Given the description of an element on the screen output the (x, y) to click on. 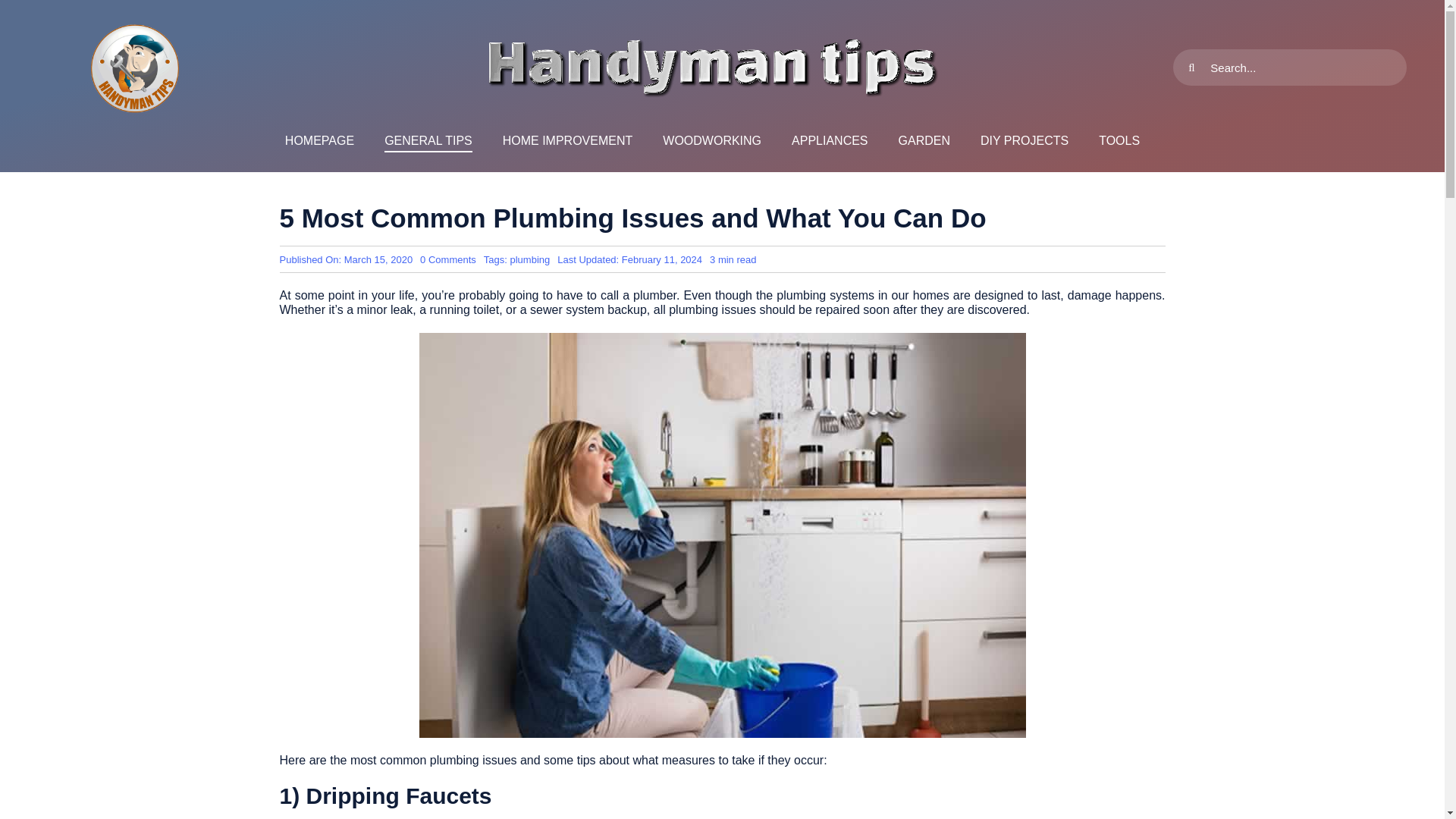
handyman tips text (711, 67)
GARDEN (924, 141)
WOODWORKING (711, 141)
TOOLS (1119, 141)
HOMEPAGE (319, 141)
DIY PROJECTS (1023, 141)
Handyman tips logo trans (134, 67)
APPLIANCES (829, 141)
HOME IMPROVEMENT (567, 141)
GENERAL TIPS (427, 141)
plumbing (529, 259)
